Given the description of an element on the screen output the (x, y) to click on. 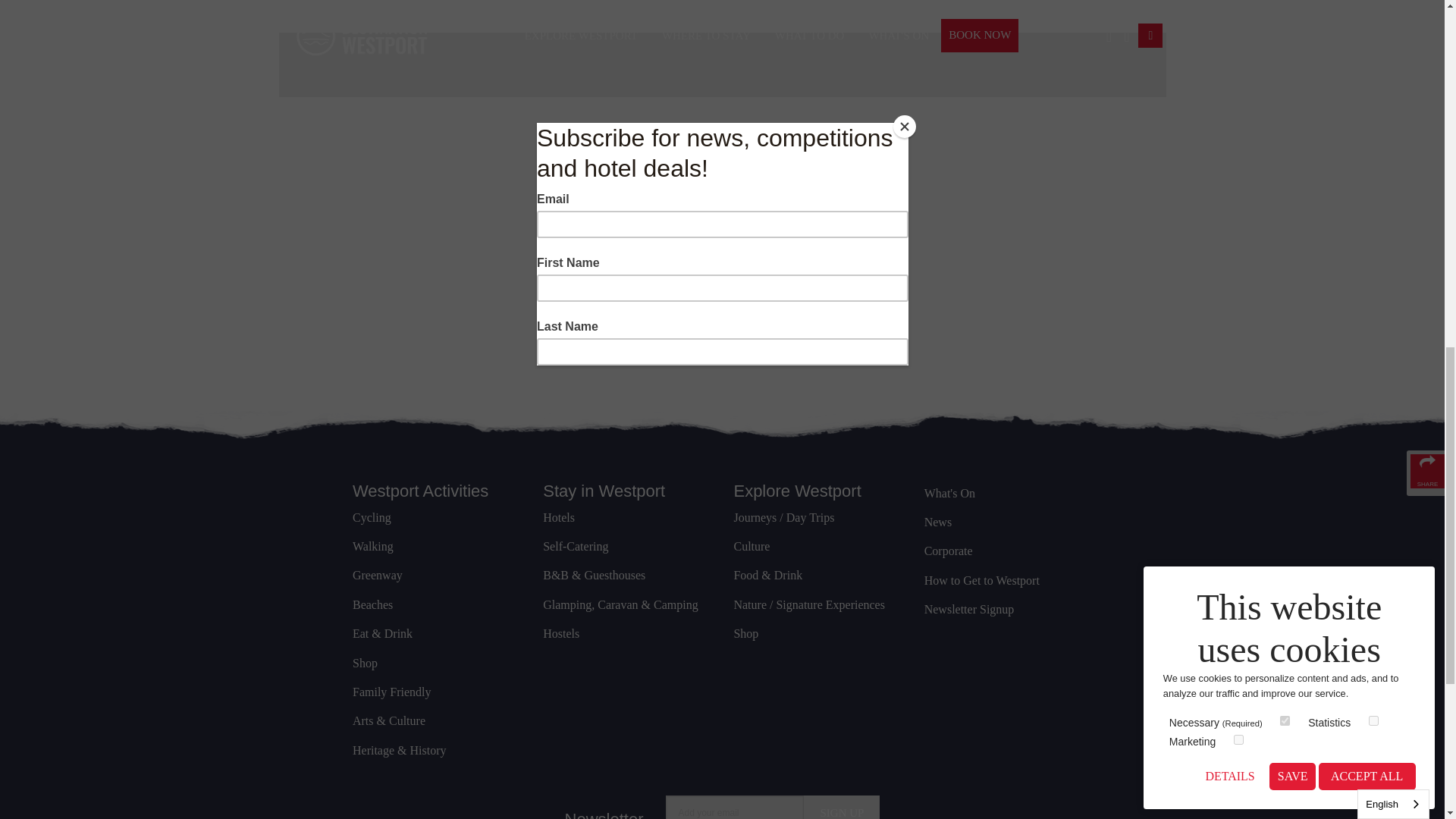
SIGN UP (841, 807)
